Given the description of an element on the screen output the (x, y) to click on. 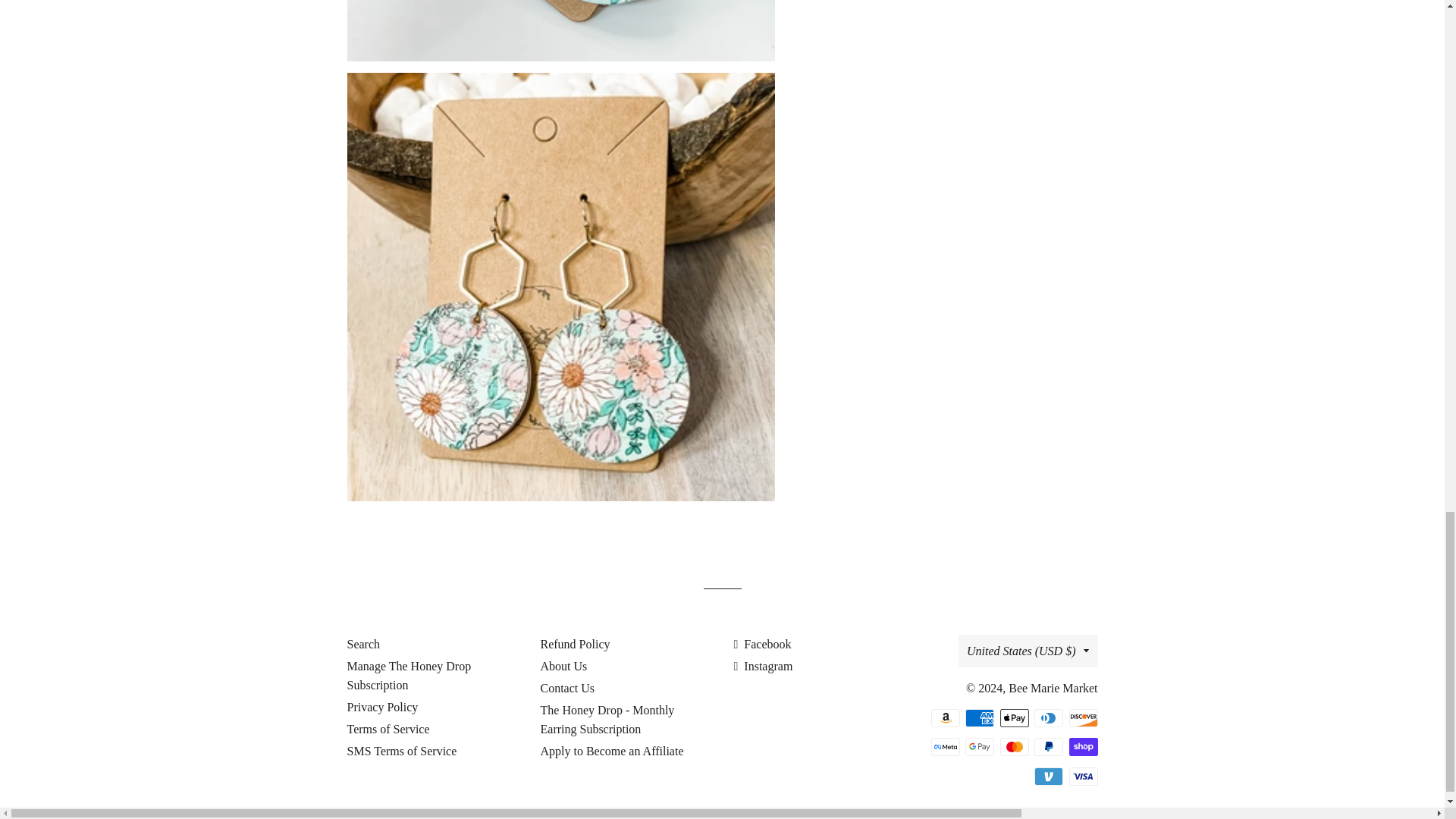
Meta Pay (945, 746)
Apple Pay (1012, 718)
PayPal (1047, 746)
Bee Marie Market on Instagram (763, 666)
Mastercard (1012, 746)
Google Pay (979, 746)
Amazon (945, 718)
Bee Marie Market on Facebook (762, 644)
Venmo (1047, 776)
Shop Pay (1082, 746)
